Given the description of an element on the screen output the (x, y) to click on. 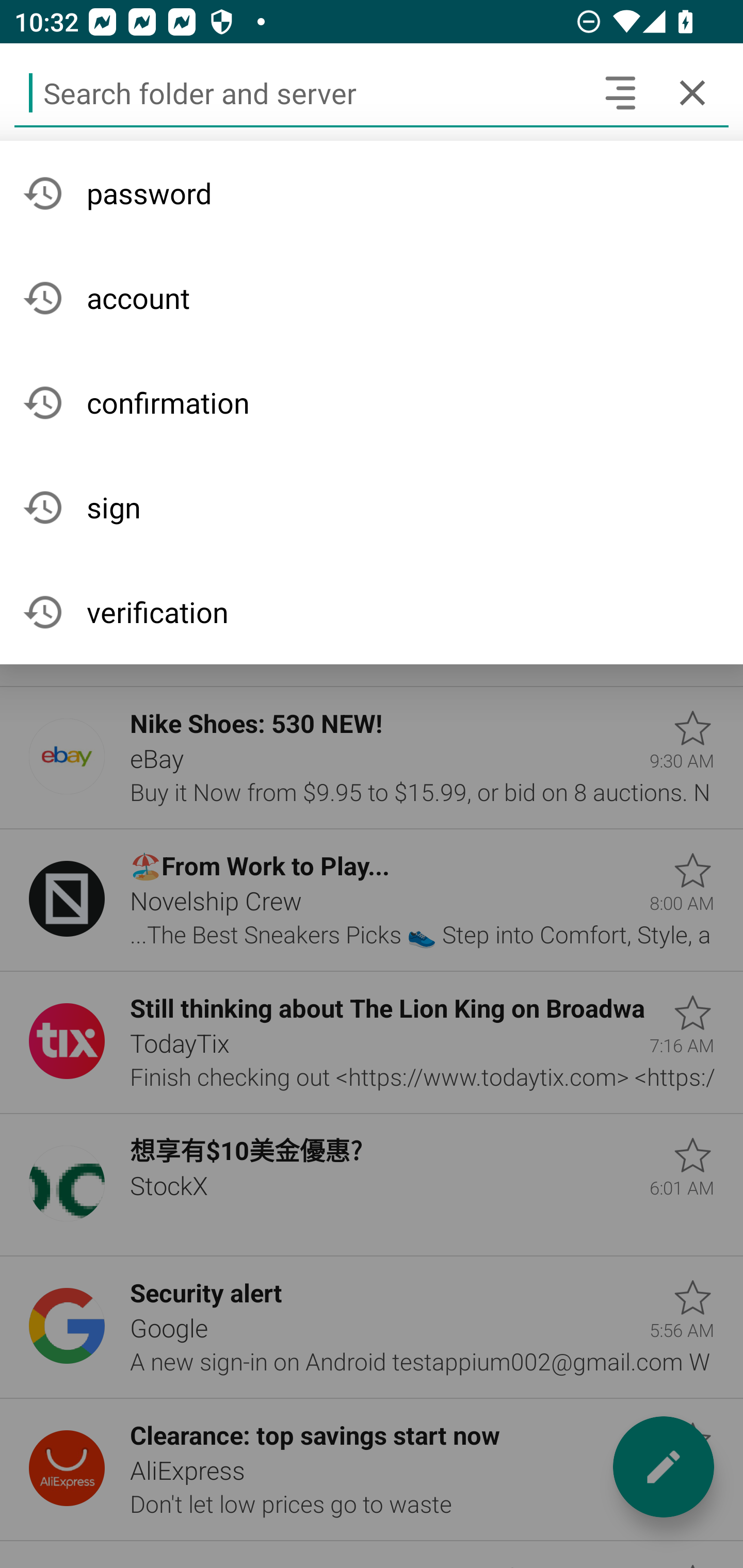
   Search folder and server (298, 92)
Search headers and text (619, 92)
Cancel (692, 92)
